Given the description of an element on the screen output the (x, y) to click on. 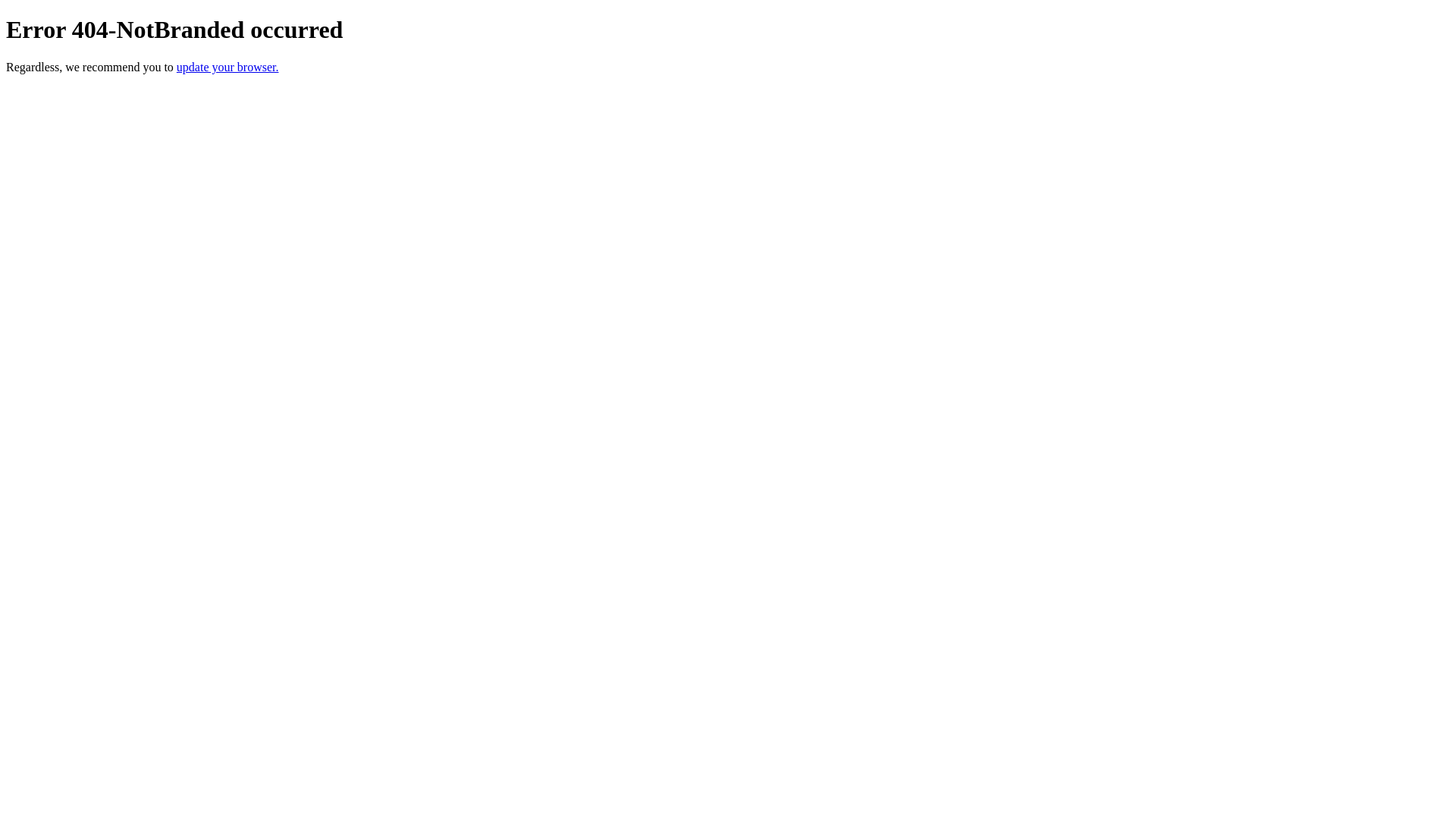
update your browser. Element type: text (227, 66)
